Given the description of an element on the screen output the (x, y) to click on. 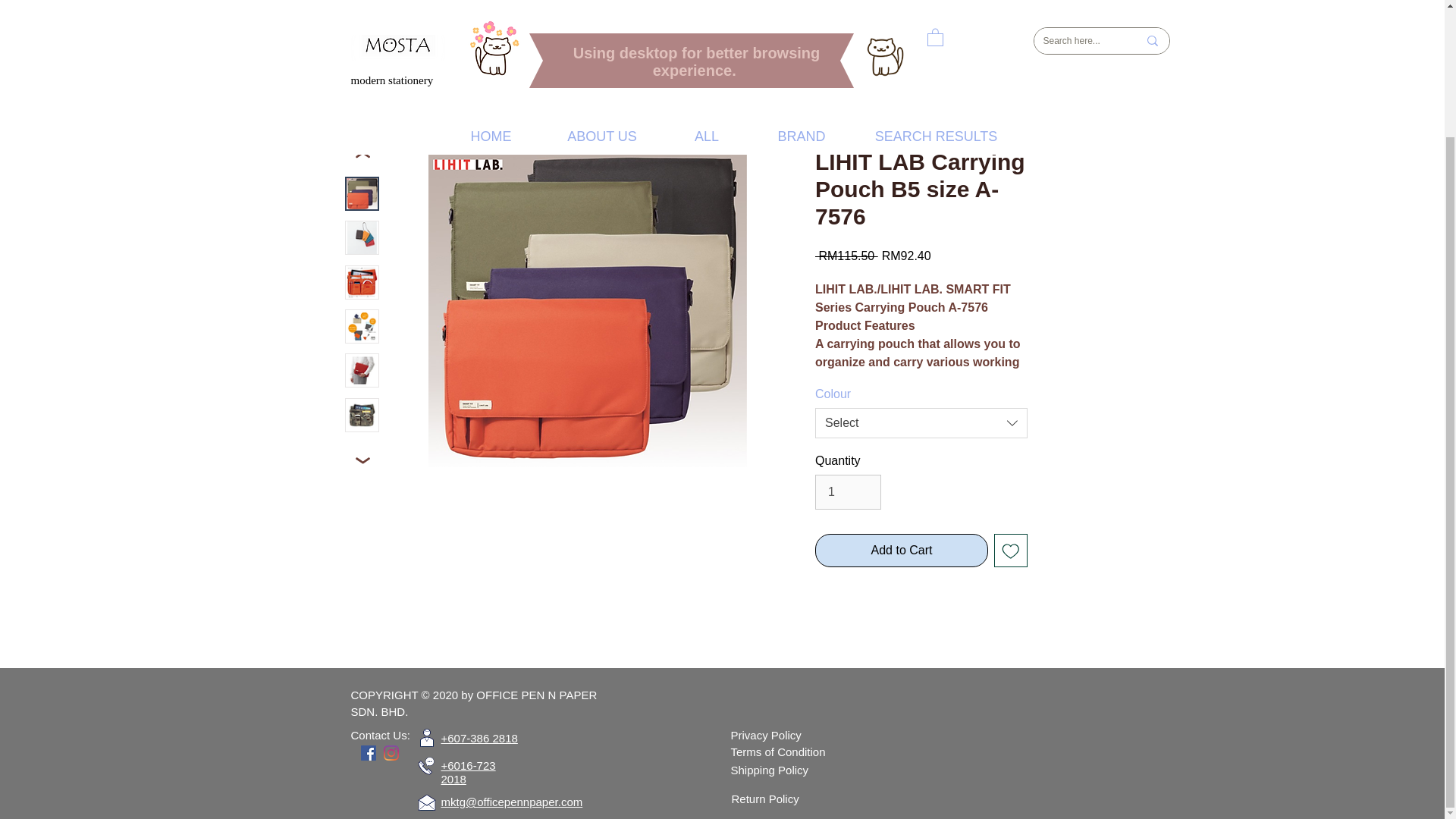
1 (847, 492)
Add to Cart (901, 550)
Privacy Policy (766, 735)
Select (921, 422)
Terms of Condition (777, 752)
